Given the description of an element on the screen output the (x, y) to click on. 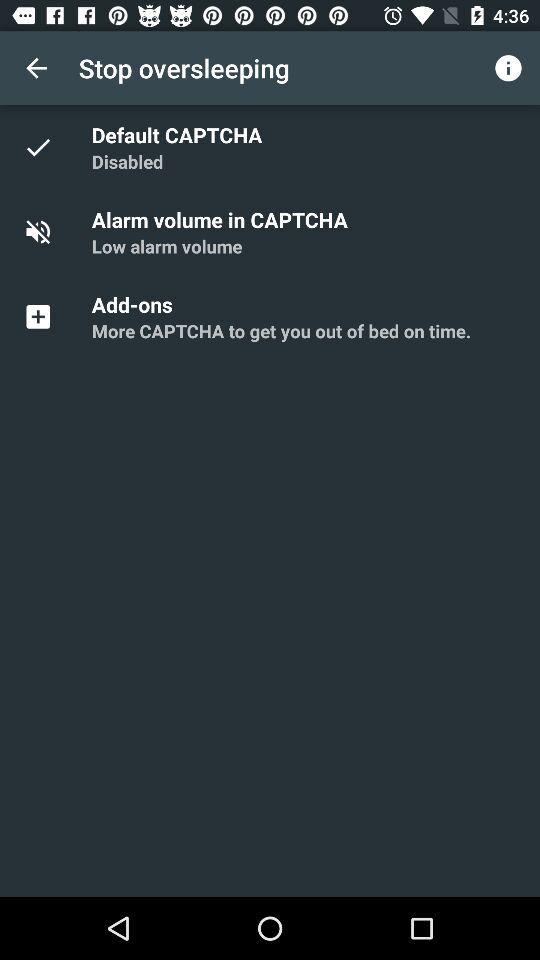
turn on icon above the disabled (180, 134)
